Given the description of an element on the screen output the (x, y) to click on. 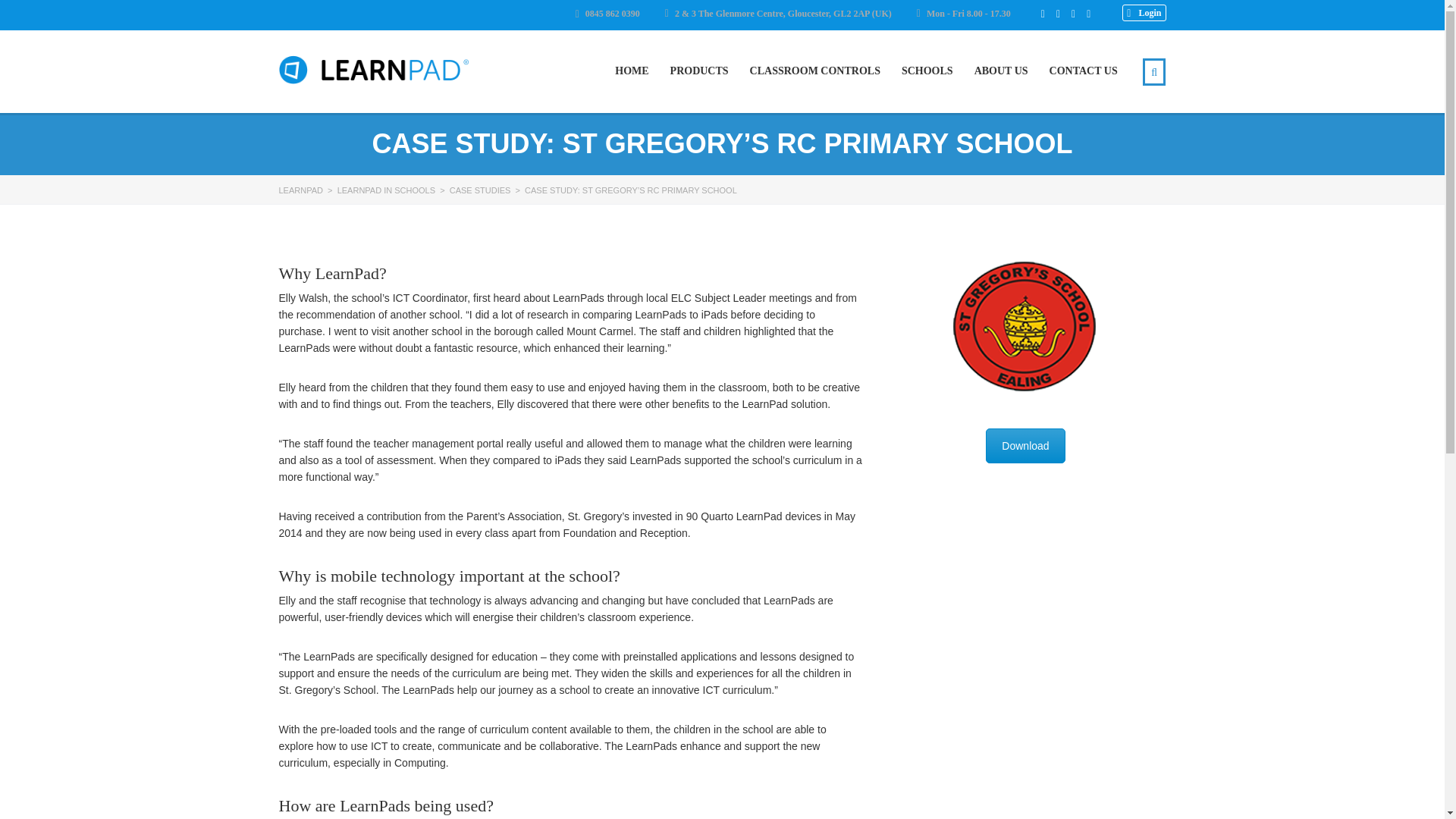
SCHOOLS (927, 71)
Go to Case Studies. (480, 189)
PRODUCTS (699, 71)
Go to LearnPad in Schools. (386, 189)
Login (1144, 12)
CLASSROOM CONTROLS (814, 71)
ABOUT US (1000, 71)
HOME (630, 71)
Go to LearnPad. (301, 189)
